Given the description of an element on the screen output the (x, y) to click on. 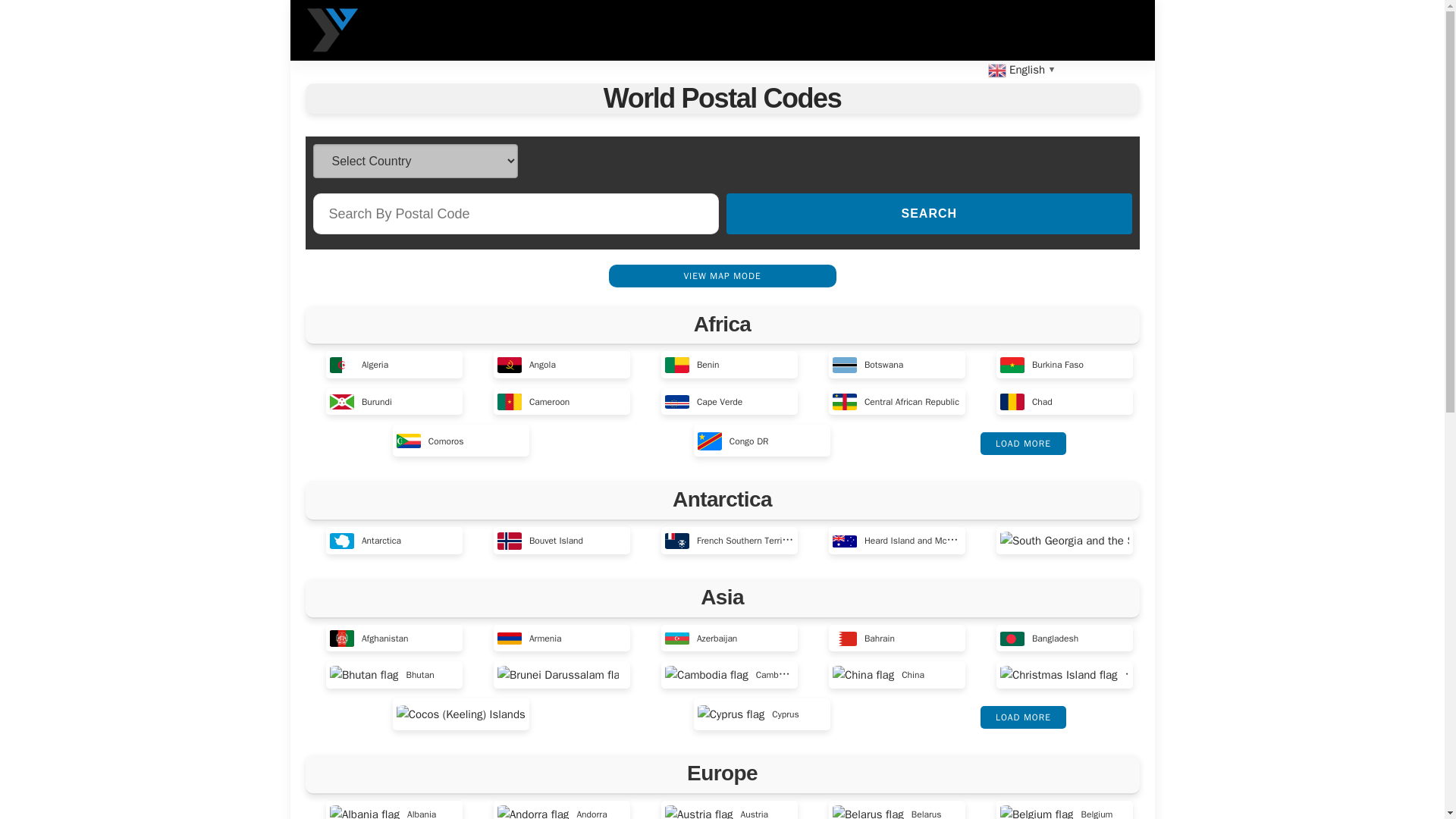
Yours Truly (331, 30)
